Given the description of an element on the screen output the (x, y) to click on. 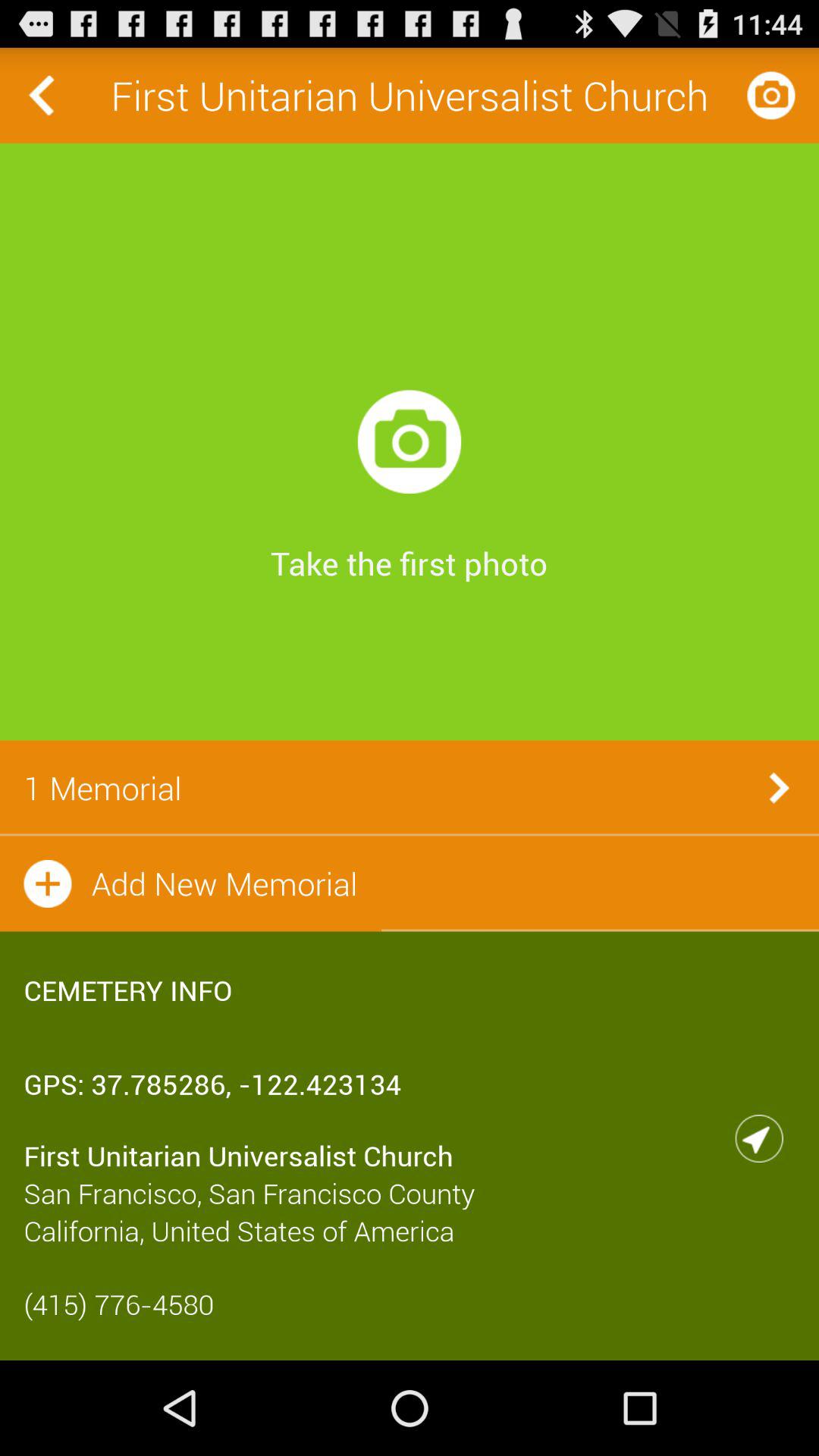
select (415) 776-4580 (409, 1303)
